Given the description of an element on the screen output the (x, y) to click on. 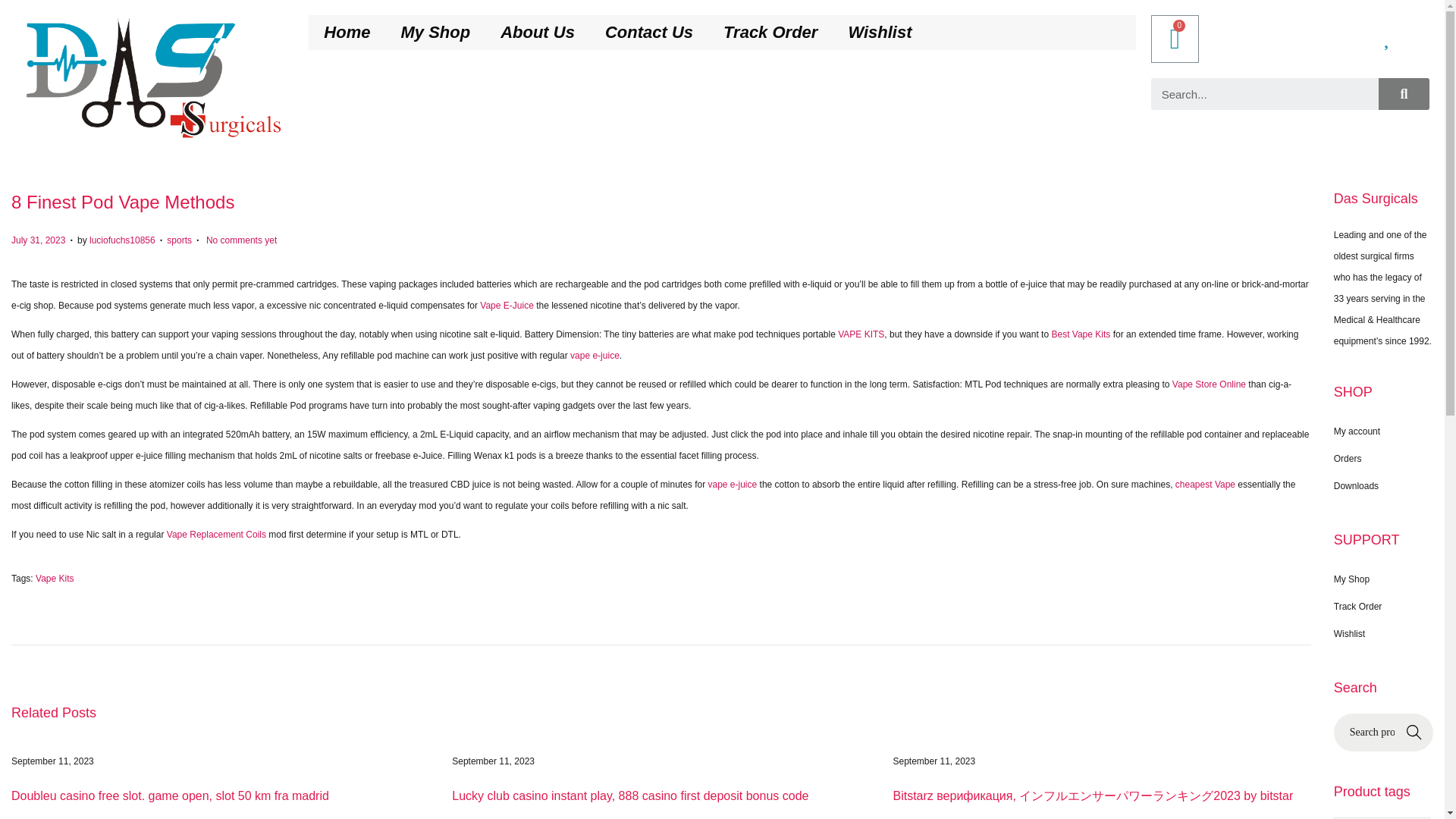
July 31, 2023 (38, 240)
Wishlist (879, 32)
Vape Store Online (1209, 384)
cheapest Vape (1204, 484)
Contact Us (648, 32)
Search (1264, 93)
Home (346, 32)
8 Finest Pod Vape Methods (122, 201)
Vape Replacement Coils (216, 534)
vape e-juice (595, 355)
